Given the description of an element on the screen output the (x, y) to click on. 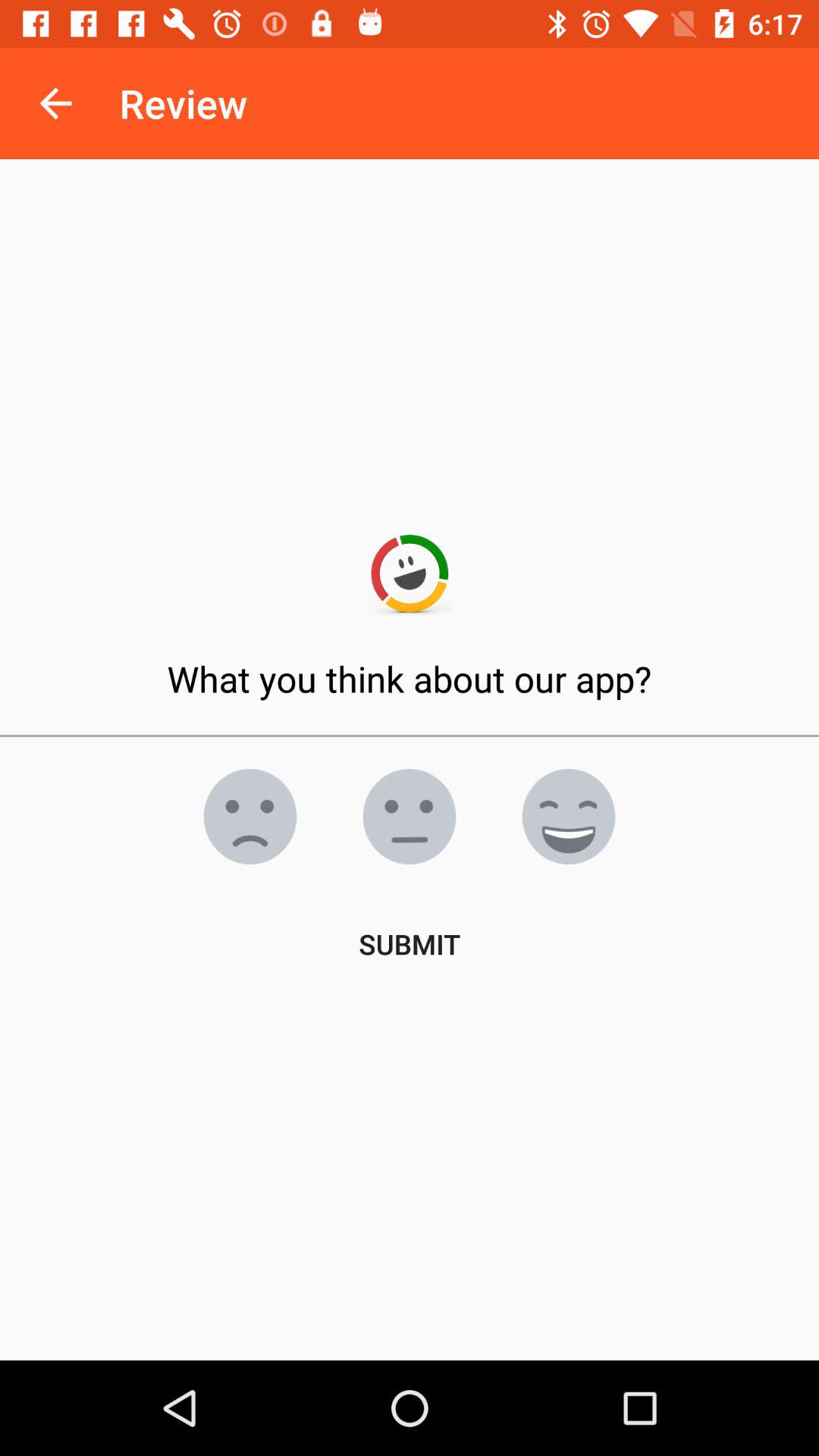
tap the item above the submit (568, 816)
